Given the description of an element on the screen output the (x, y) to click on. 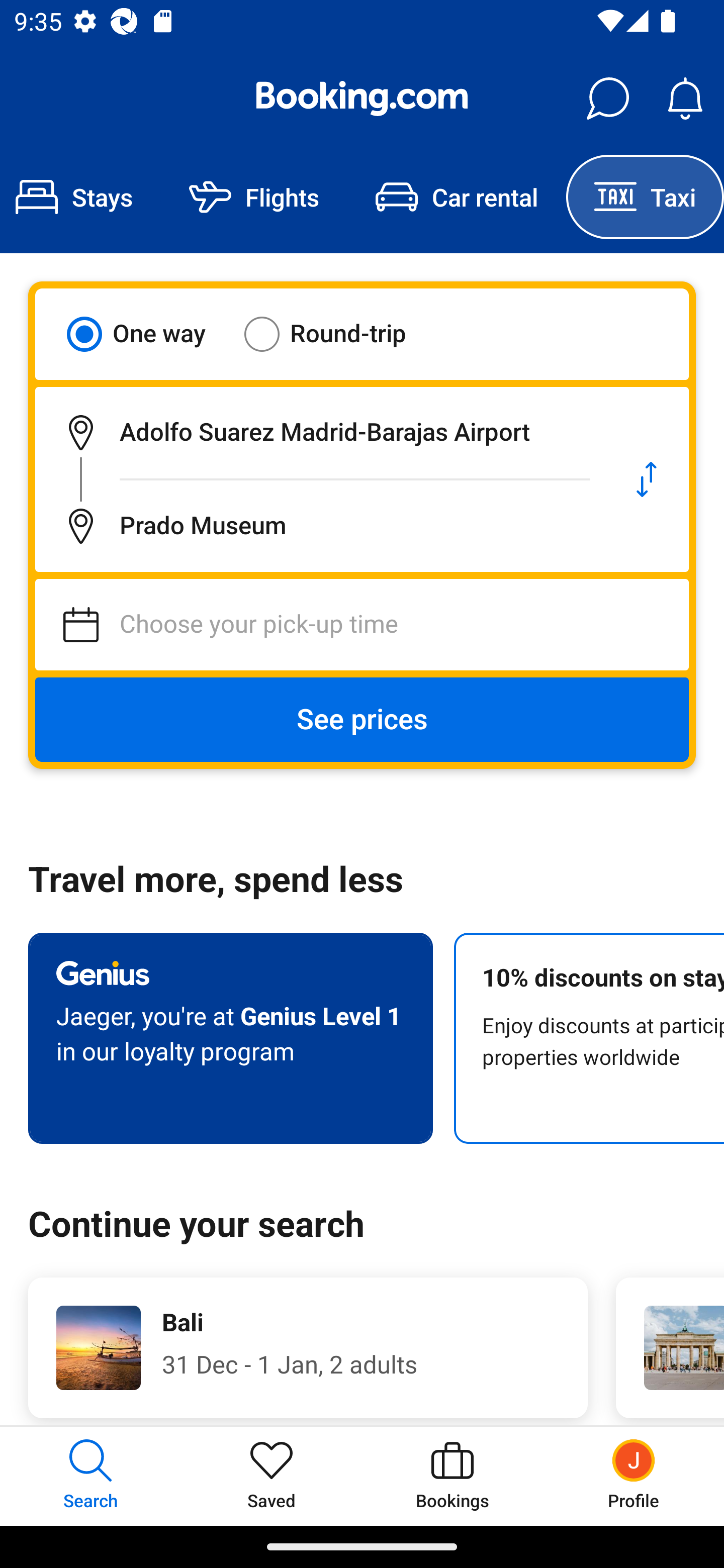
Messages (607, 98)
Notifications (685, 98)
Stays (80, 197)
Flights (253, 197)
Car rental (456, 197)
Taxi (645, 197)
Round-trip (337, 333)
Swap pick-up location and destination (646, 479)
Destination: Prado Museum (319, 525)
Choose your pick-up time (361, 624)
See prices (361, 719)
Bali 31 Dec - 1 Jan, 2 adults (307, 1347)
Saved (271, 1475)
Bookings (452, 1475)
Profile (633, 1475)
